Given the description of an element on the screen output the (x, y) to click on. 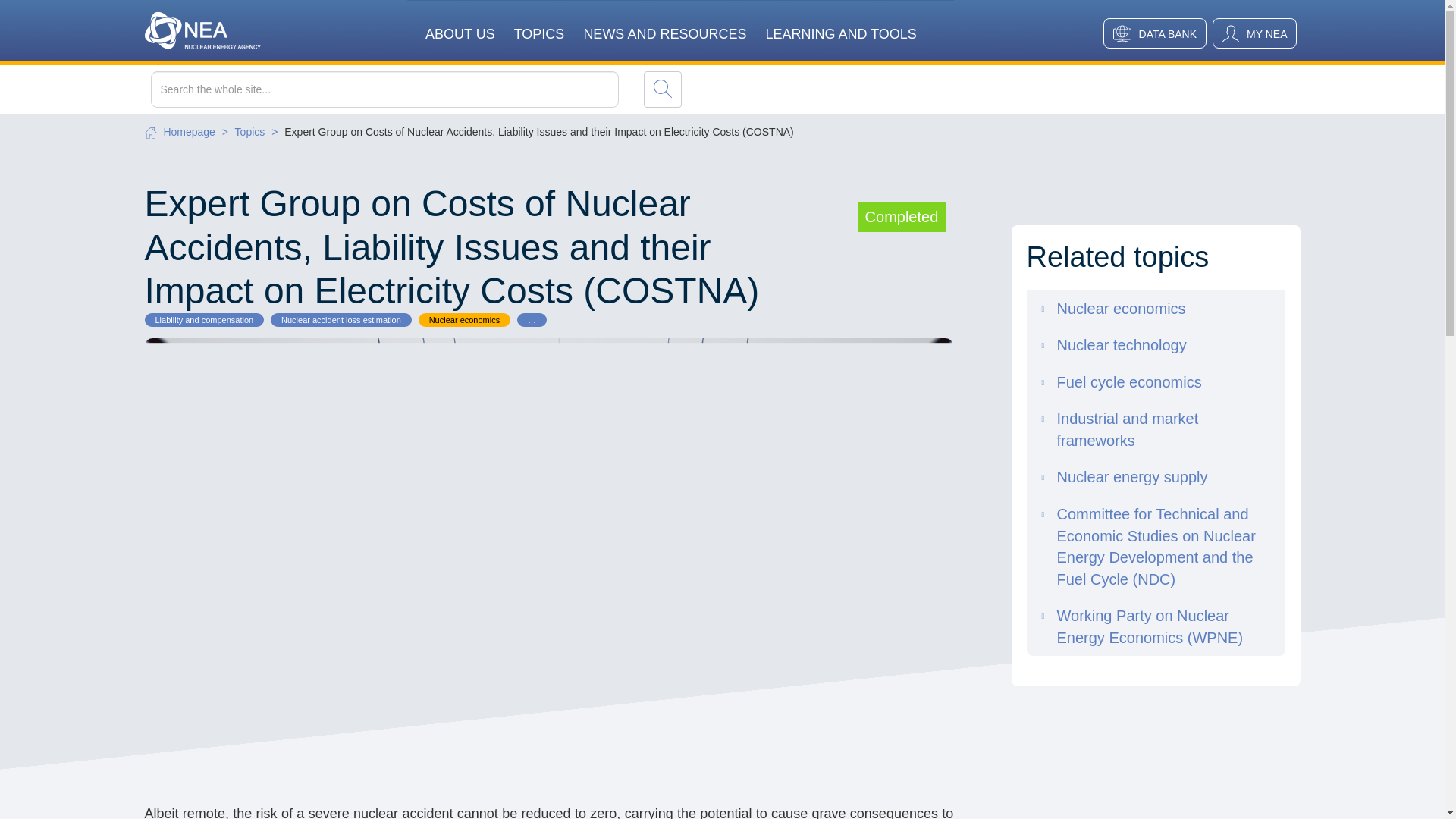
Show all categories... (531, 319)
TOPICS (538, 23)
NEWS AND RESOURCES (664, 23)
Homepage (189, 132)
Search the whole site... (415, 89)
Search (662, 89)
Nuclear accident loss estimation (341, 319)
Nuclear economics (465, 319)
Liability and compensation (203, 319)
ABOUT US (460, 23)
